Given the description of an element on the screen output the (x, y) to click on. 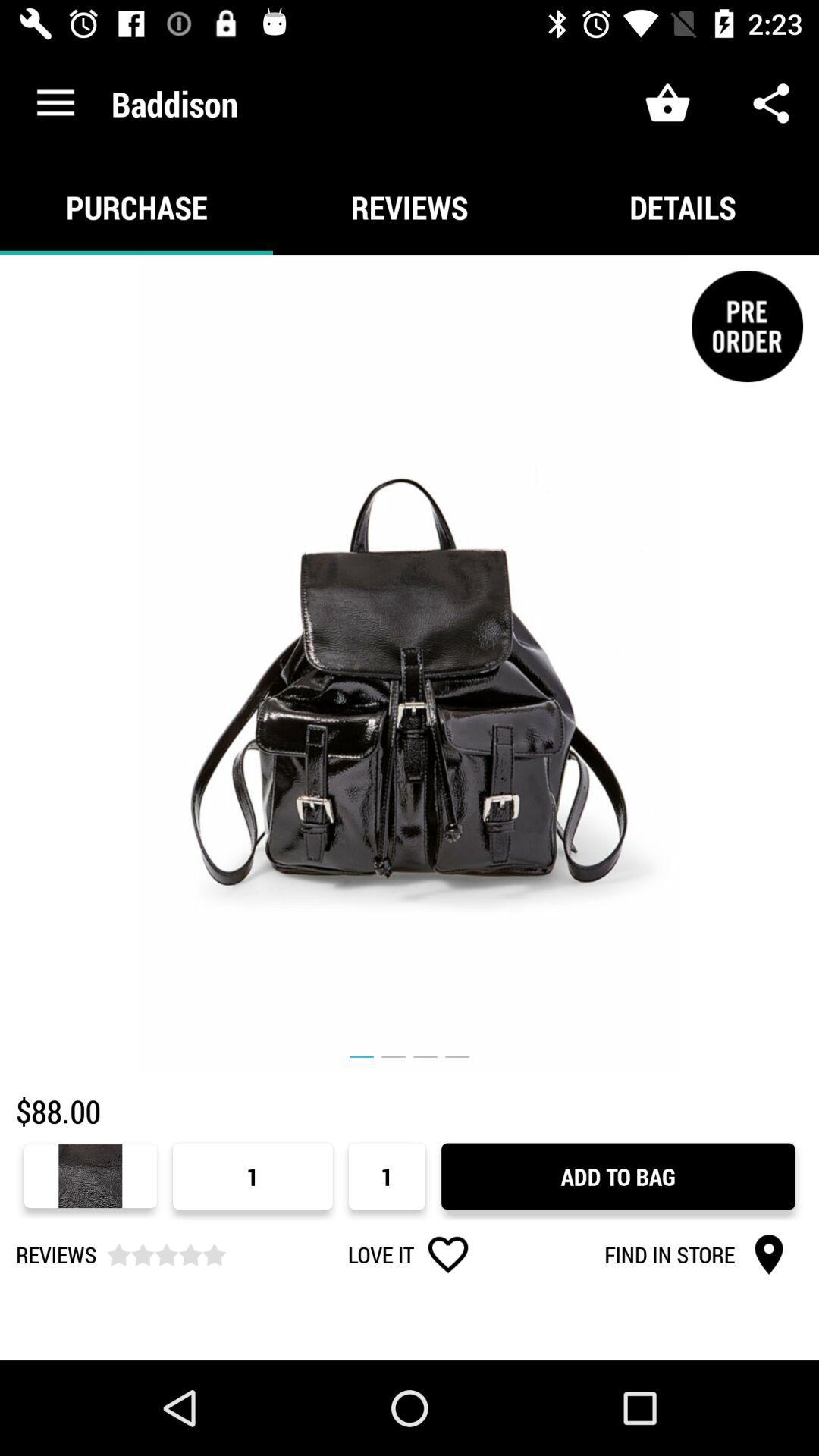
turn on the item at the center (409, 663)
